Given the description of an element on the screen output the (x, y) to click on. 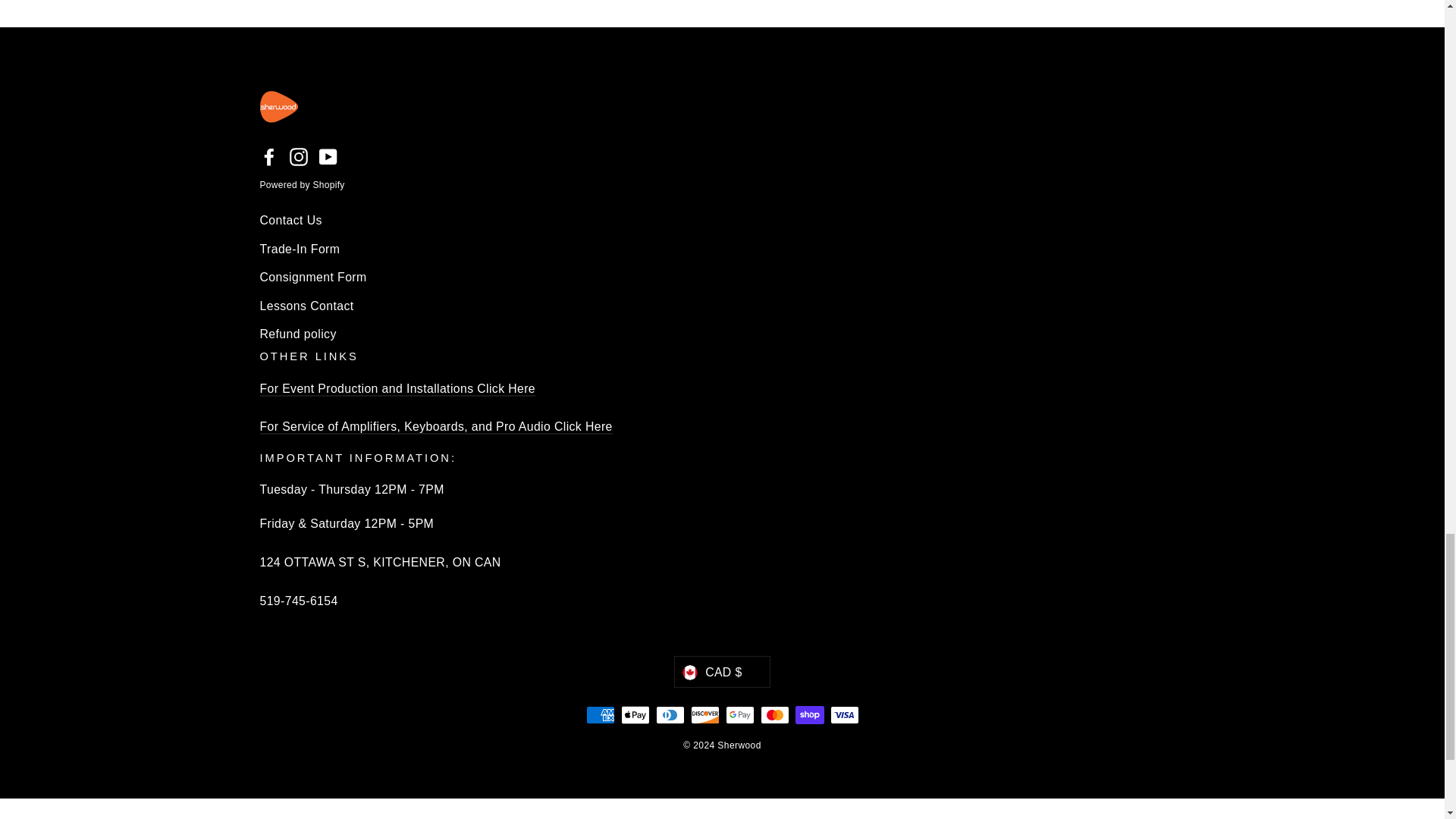
Sherwood on Instagram (298, 156)
Sherwood on YouTube (327, 156)
